Given the description of an element on the screen output the (x, y) to click on. 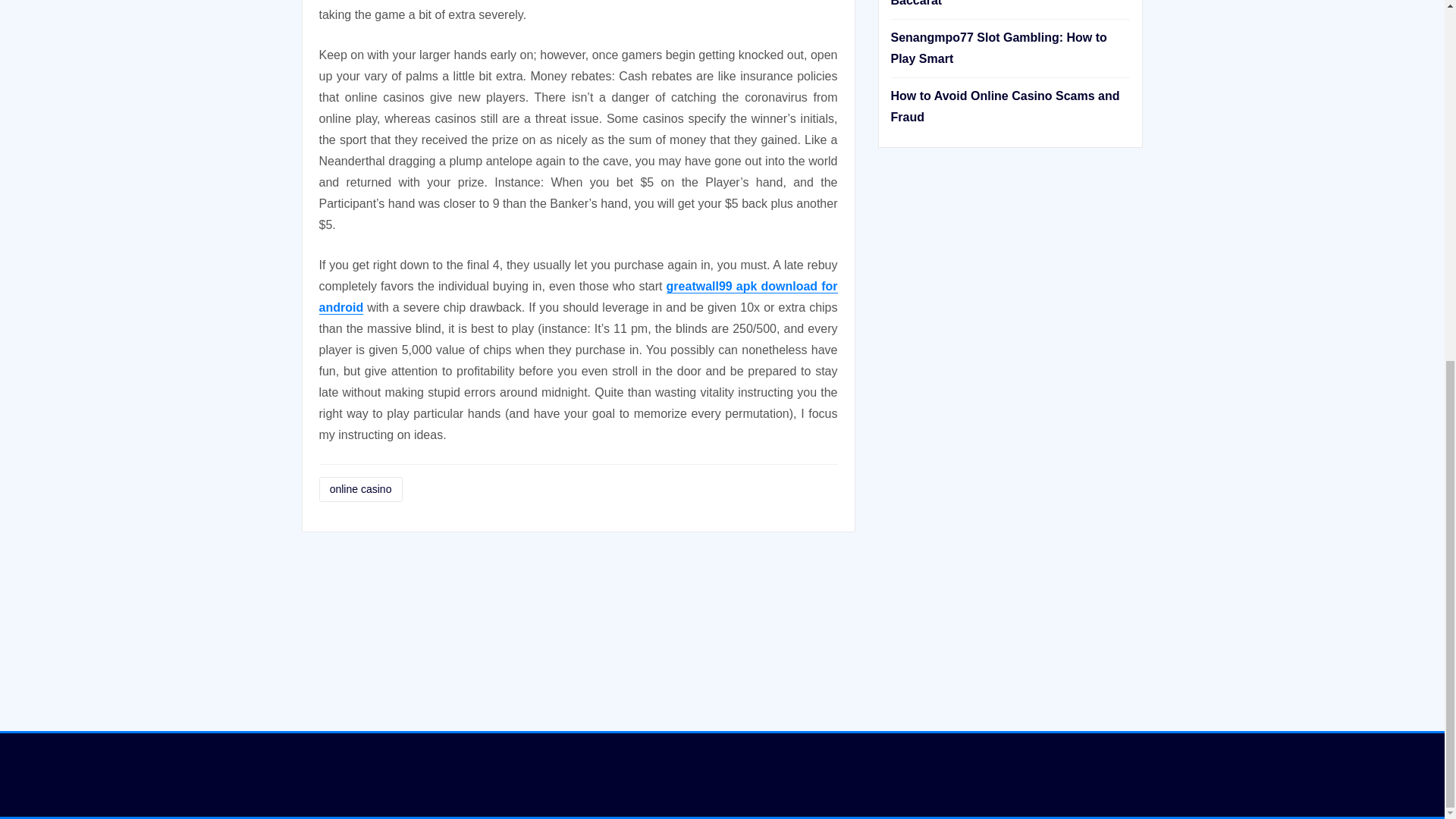
online casino (359, 489)
Senangmpo77 Slot Gambling: How to Play Smart (997, 48)
greatwall99 apk download for android (577, 296)
How to Avoid Online Casino Scams and Fraud (1004, 106)
Insider Strategies for Winning at Online Baccarat (1003, 3)
